Given the description of an element on the screen output the (x, y) to click on. 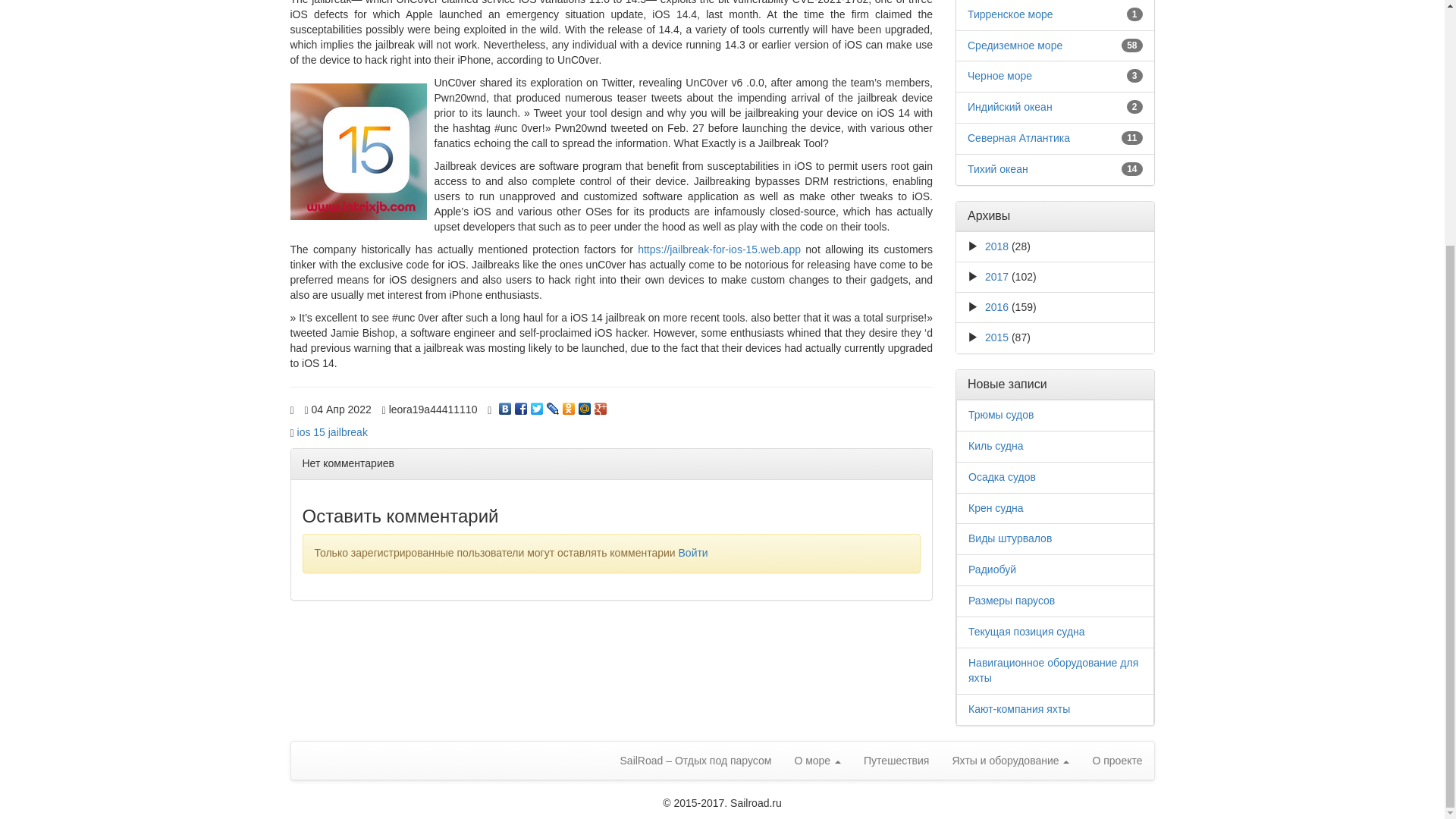
Facebook (521, 404)
Twitter (536, 404)
LiveJournal (552, 404)
ios 15 jailbreak (332, 431)
Google Plus (600, 404)
